Given the description of an element on the screen output the (x, y) to click on. 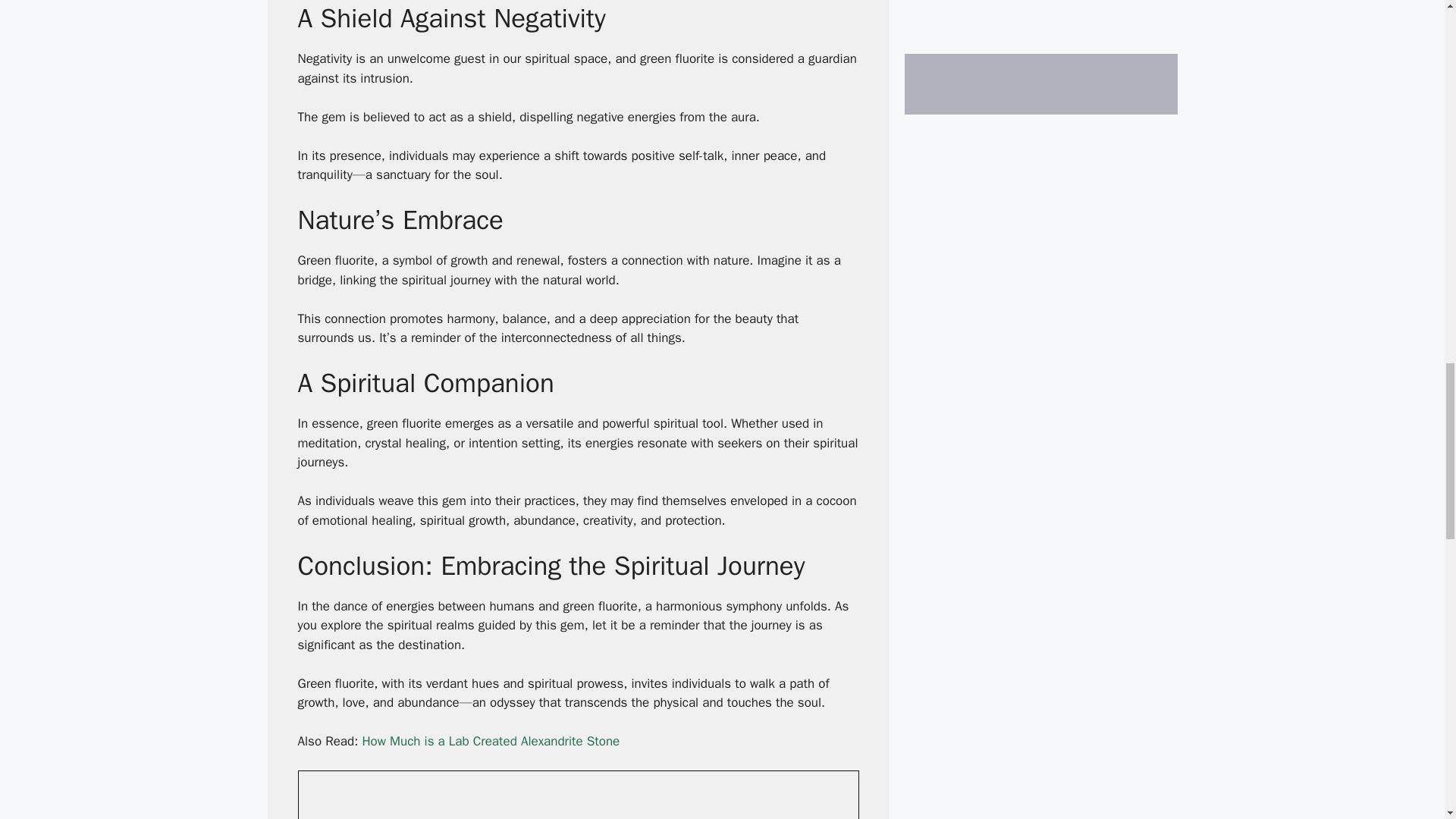
How Much is a Lab Created Alexandrite Stone (490, 741)
